Given the description of an element on the screen output the (x, y) to click on. 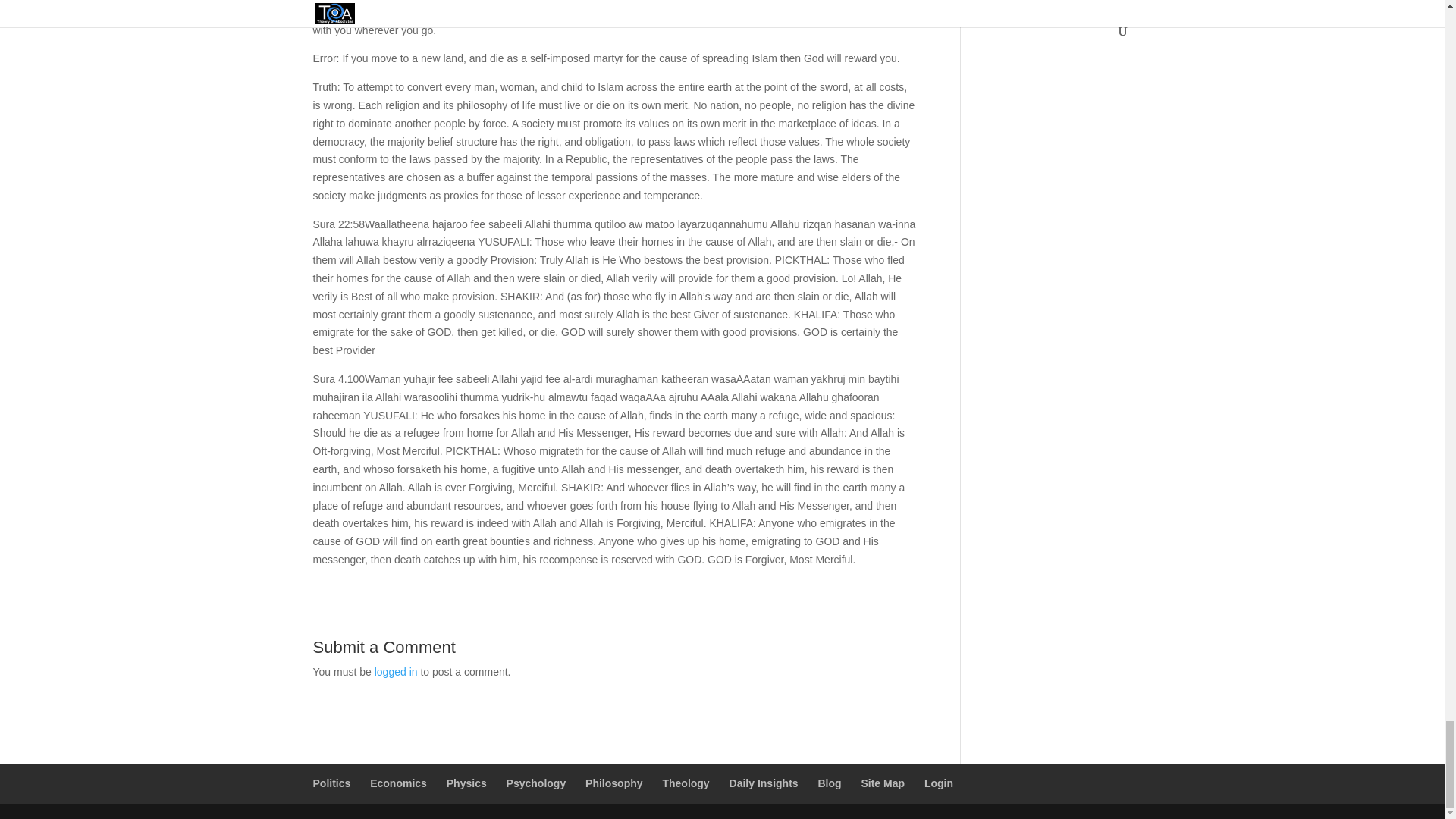
Blog (828, 783)
logged in (395, 671)
Economics (397, 783)
Site Map (882, 783)
Daily Insights (763, 783)
Physics (466, 783)
Politics (331, 783)
Philosophy (613, 783)
Theology (685, 783)
Psychology (536, 783)
